Given the description of an element on the screen output the (x, y) to click on. 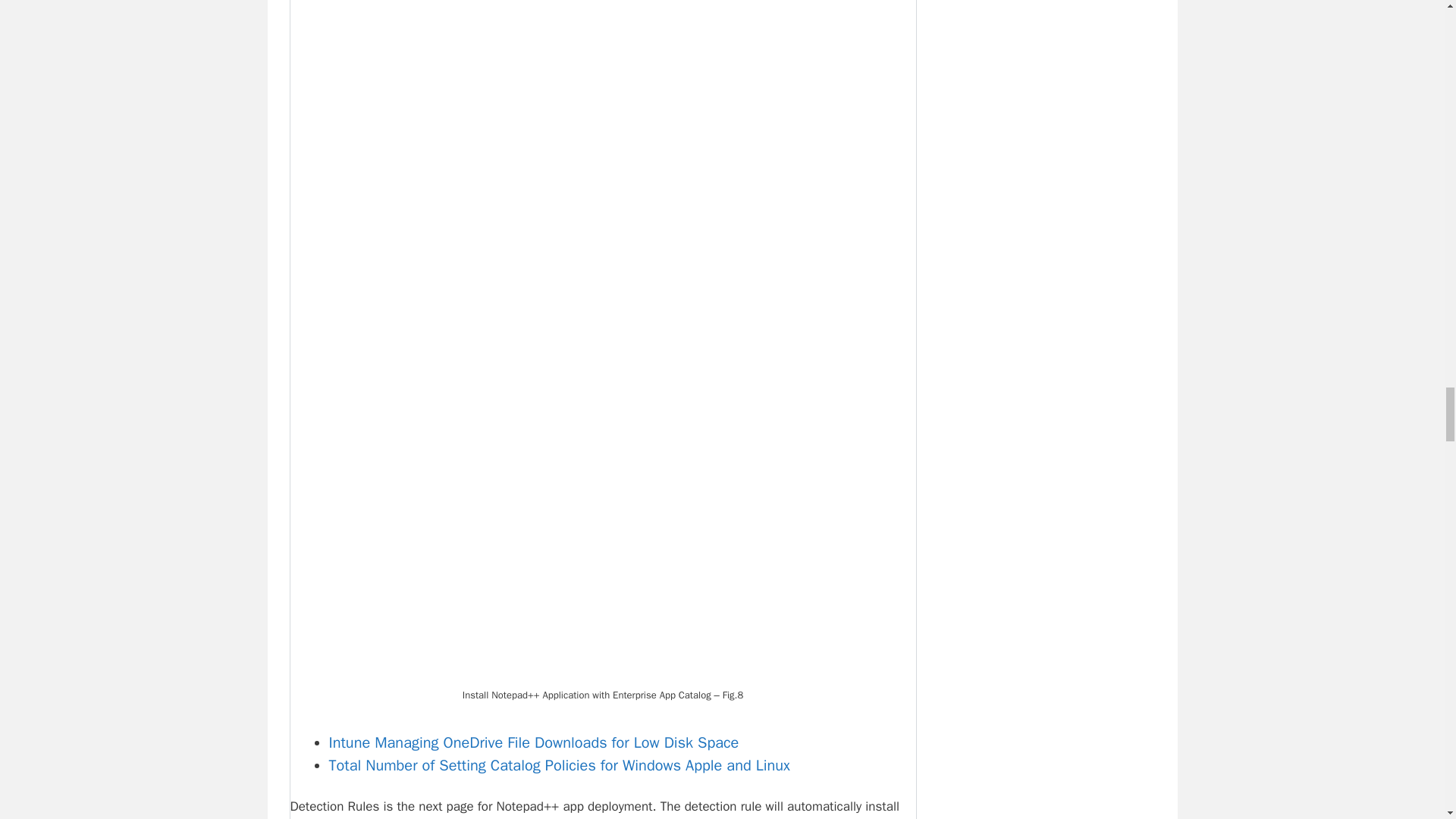
Intune Managing OneDrive File Downloads for Low Disk Space (534, 742)
